Given the description of an element on the screen output the (x, y) to click on. 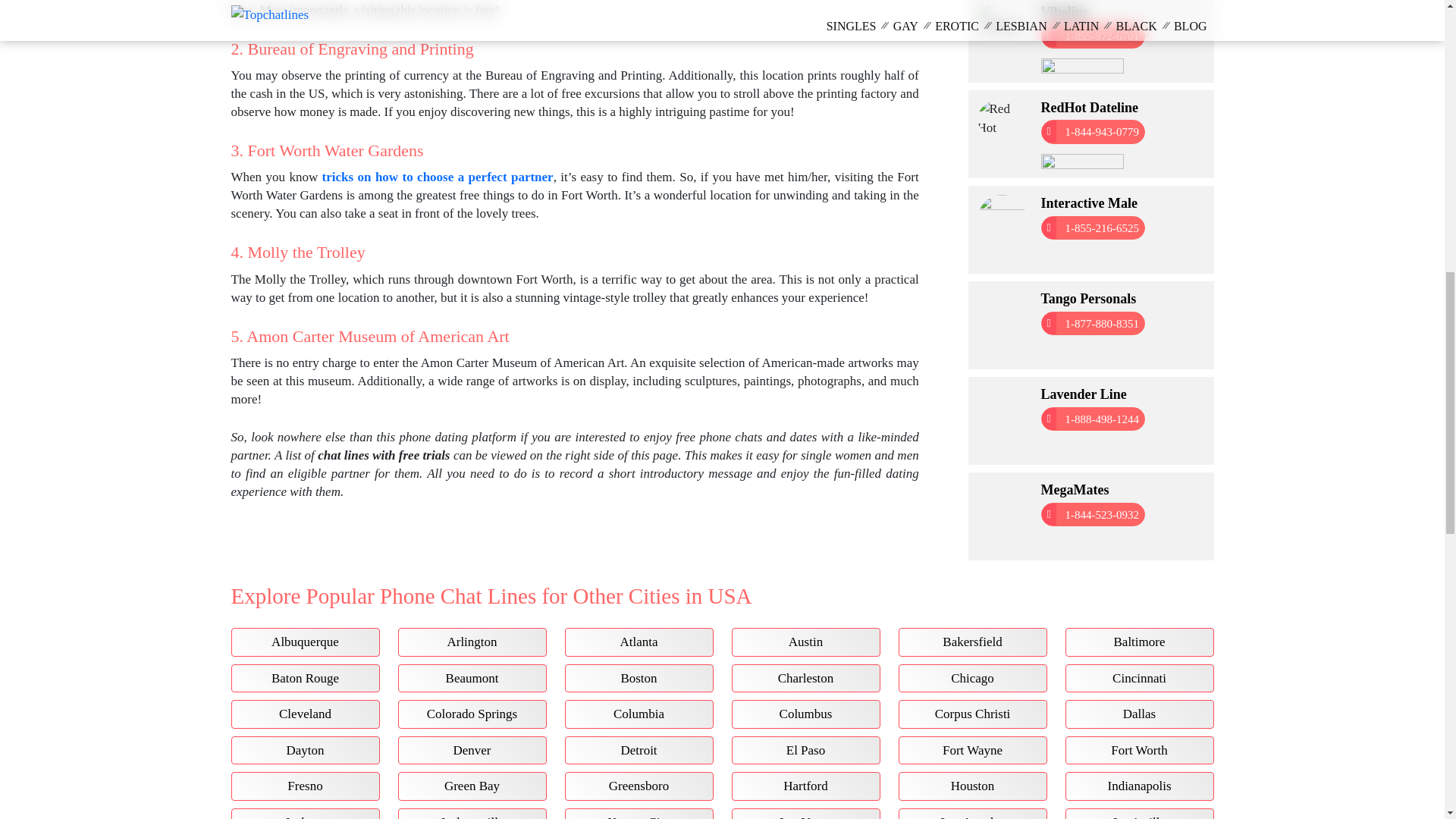
RedHot Dateline (1089, 108)
1-844-943-0779 (1092, 131)
Vibeline (1064, 12)
1-855-972-6701 (1092, 36)
